Given the description of an element on the screen output the (x, y) to click on. 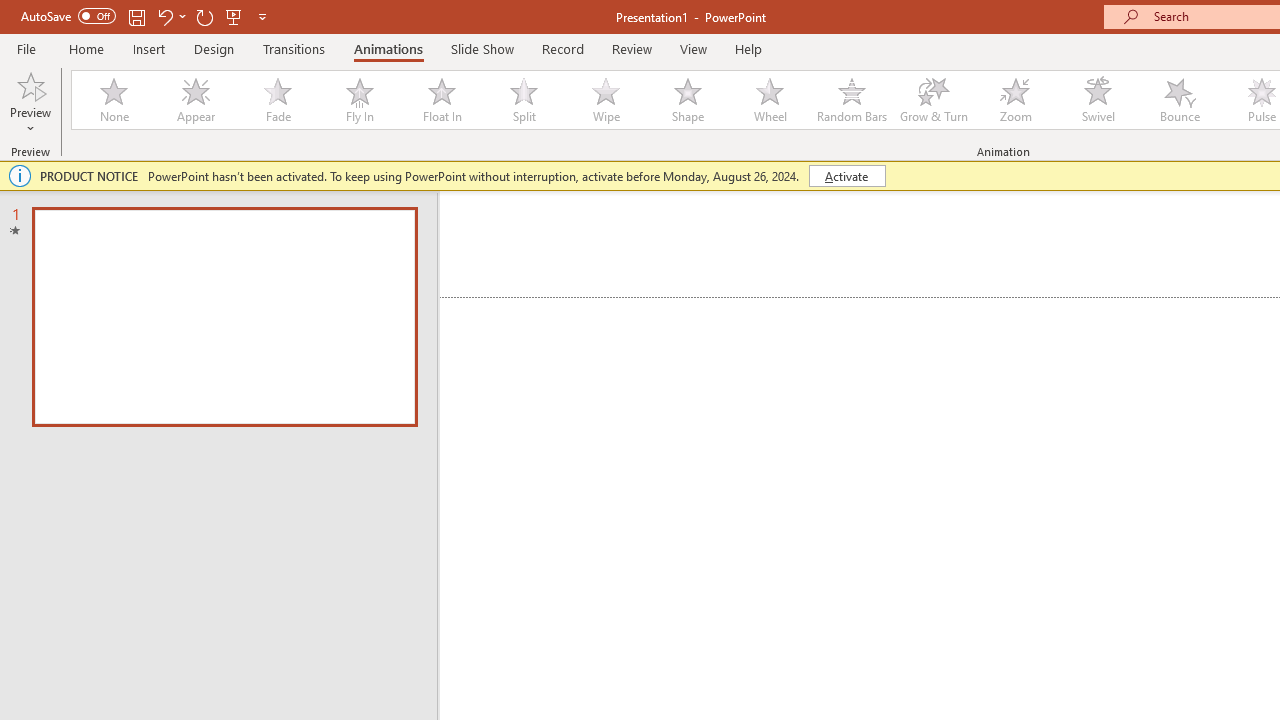
Fly In (359, 100)
